Given the description of an element on the screen output the (x, y) to click on. 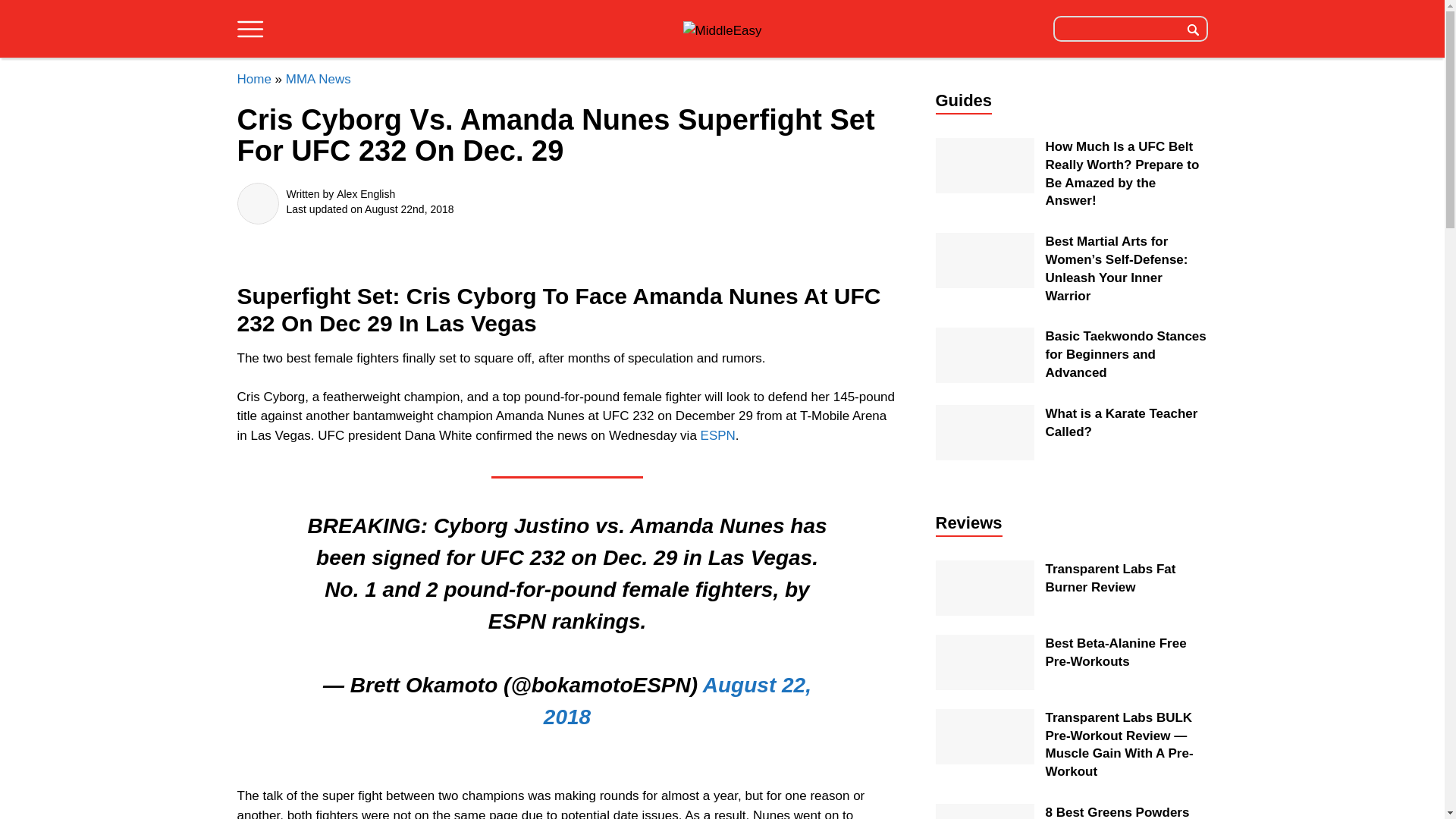
MiddleEasy (721, 28)
MiddleEasy (721, 30)
GO (1193, 28)
